Given the description of an element on the screen output the (x, y) to click on. 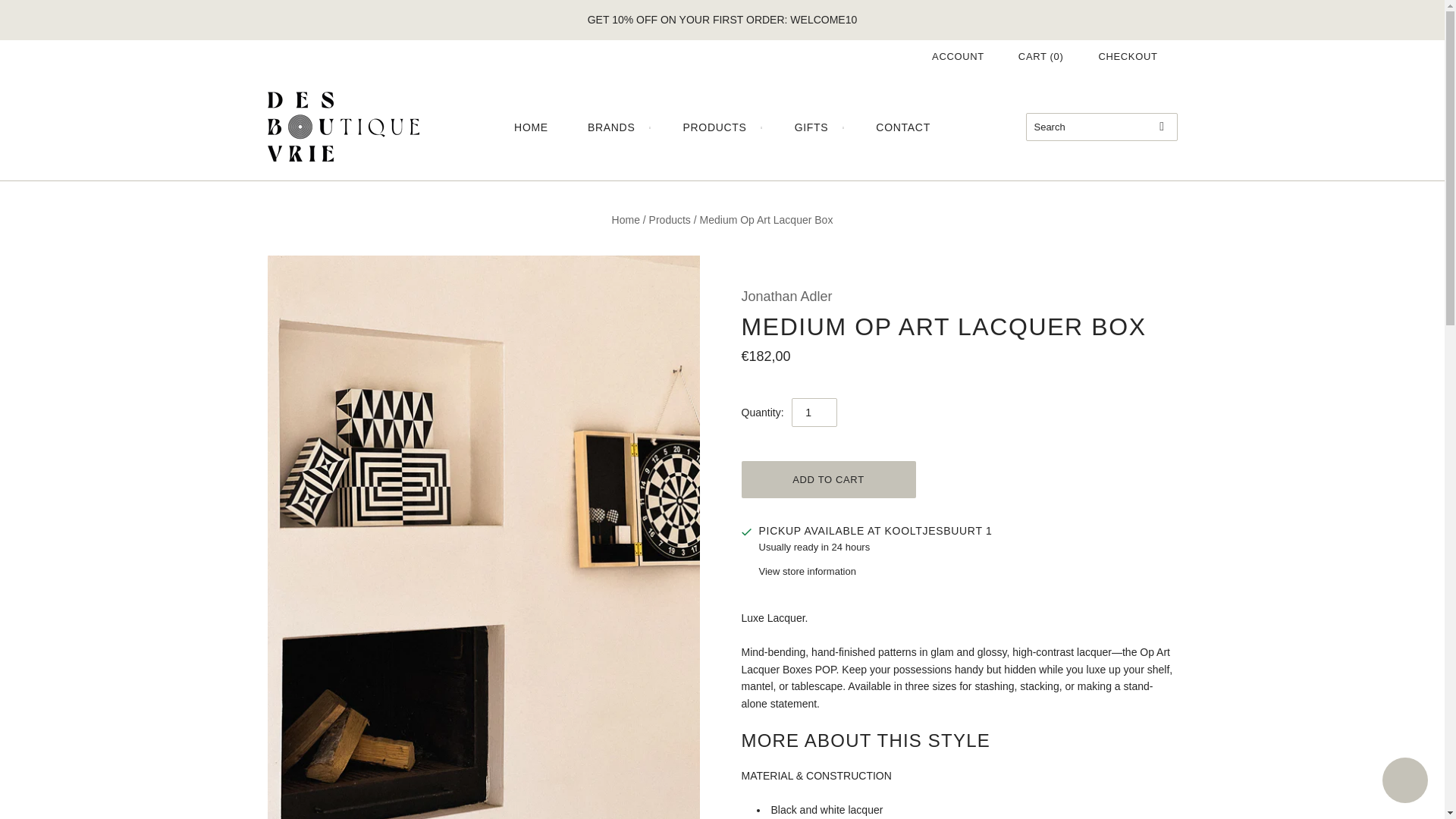
1 (814, 412)
HOME (531, 127)
CHECKOUT (1127, 56)
ACCOUNT (957, 56)
Add to cart (828, 479)
Shopify online store chat (1404, 781)
